Given the description of an element on the screen output the (x, y) to click on. 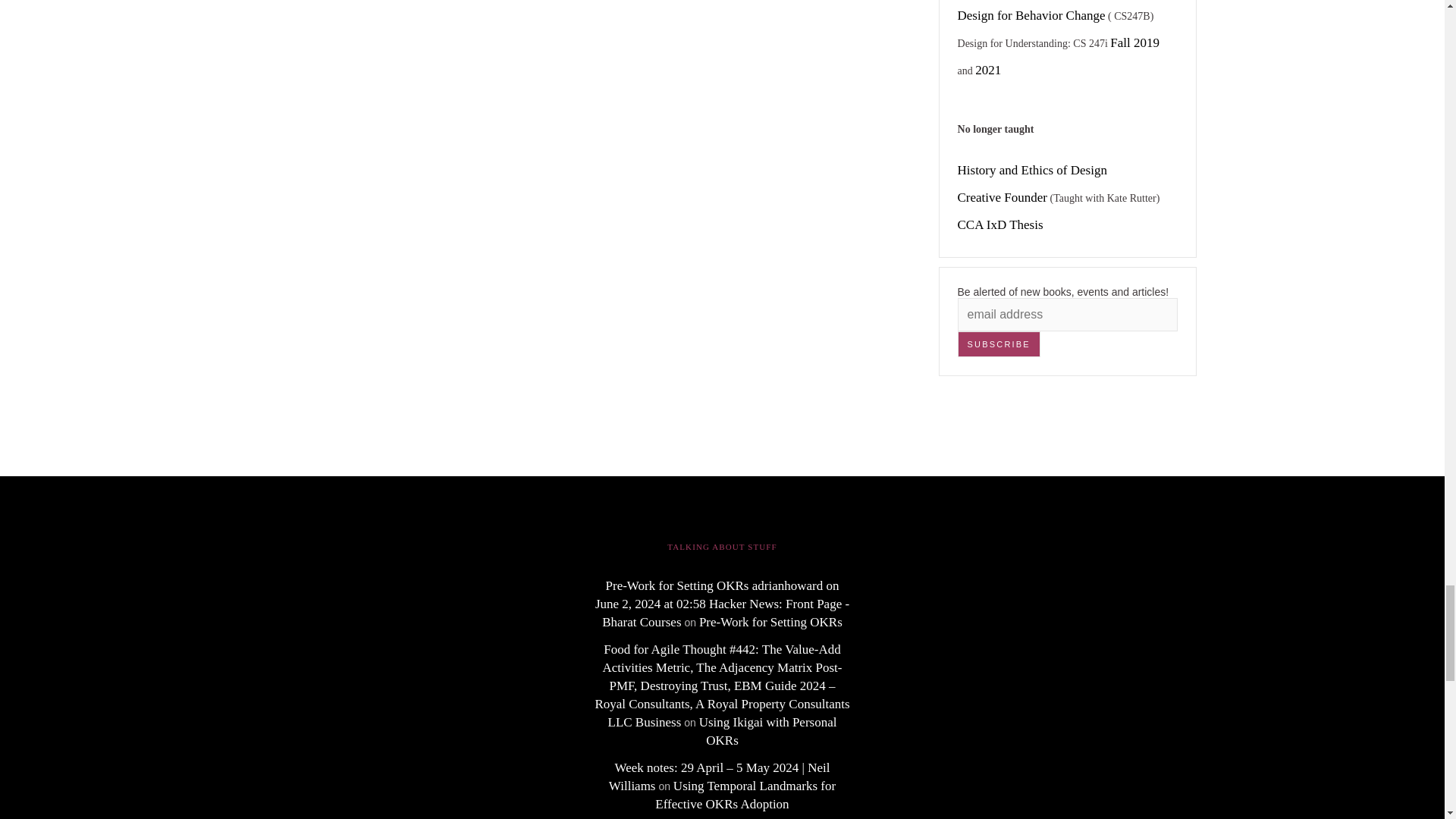
Subscribe (999, 344)
